Given the description of an element on the screen output the (x, y) to click on. 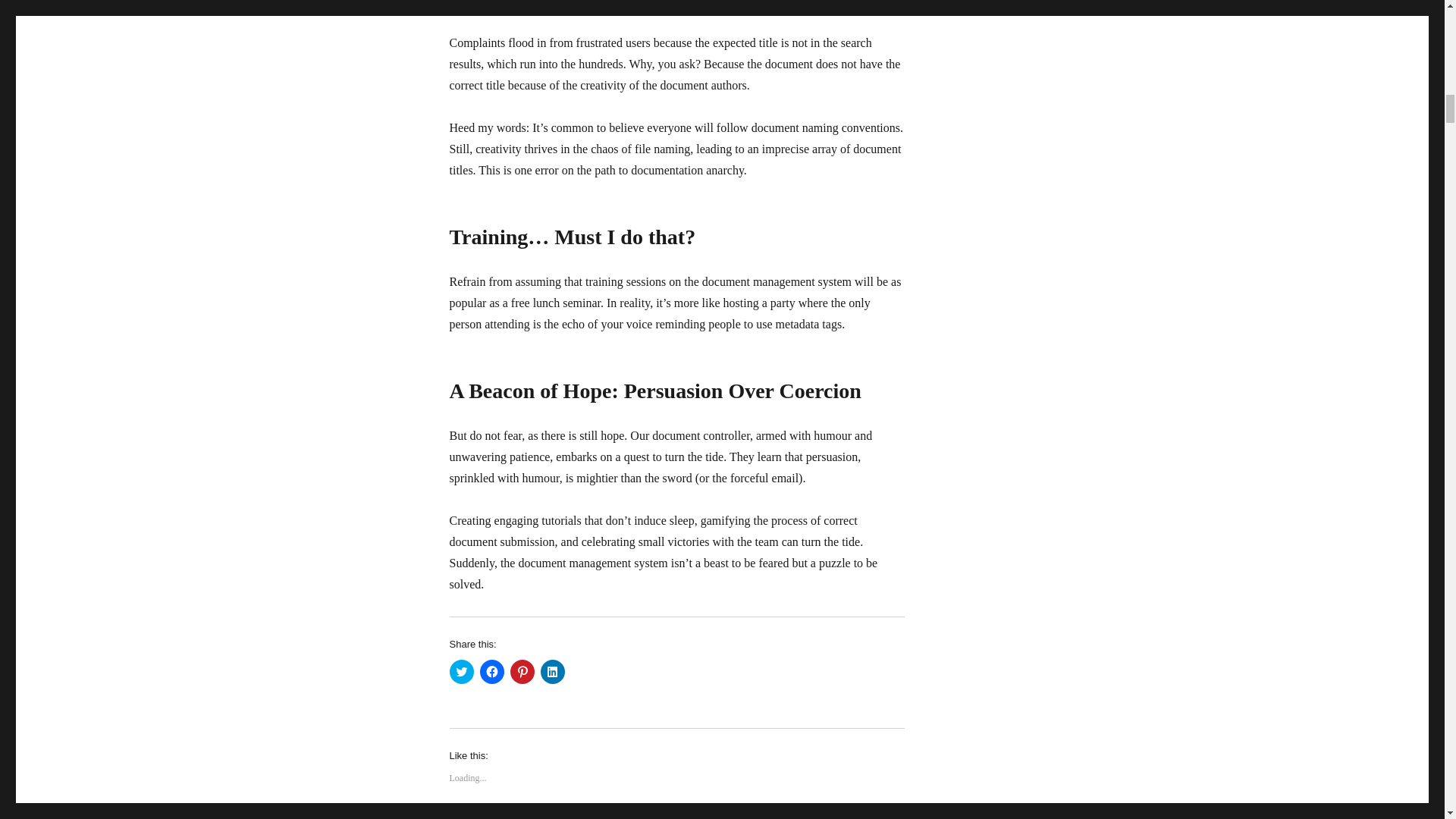
Click to share on Facebook (491, 671)
Click to share on LinkedIn (552, 671)
Click to share on Pinterest (521, 671)
Click to share on Twitter (460, 671)
